Given the description of an element on the screen output the (x, y) to click on. 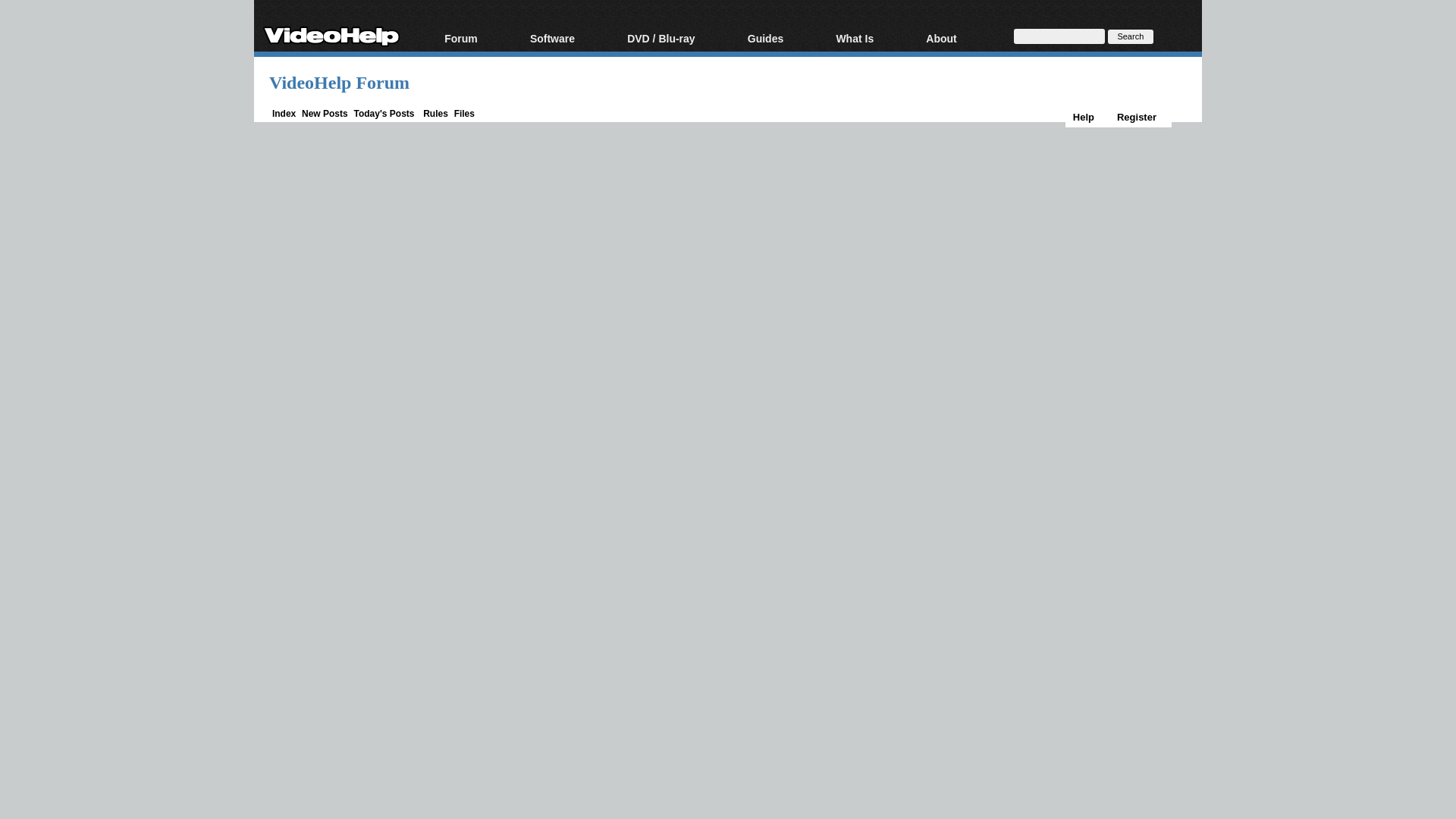
Index (283, 113)
Guides (783, 40)
New Posts (324, 113)
VideoHelp Forum (339, 82)
Today's Posts (383, 113)
Search (1130, 35)
Forum (478, 40)
What Is (872, 40)
Search (1130, 35)
Rules (435, 113)
VideoHelp (330, 33)
Software (570, 40)
About (959, 40)
Files (464, 113)
